Given the description of an element on the screen output the (x, y) to click on. 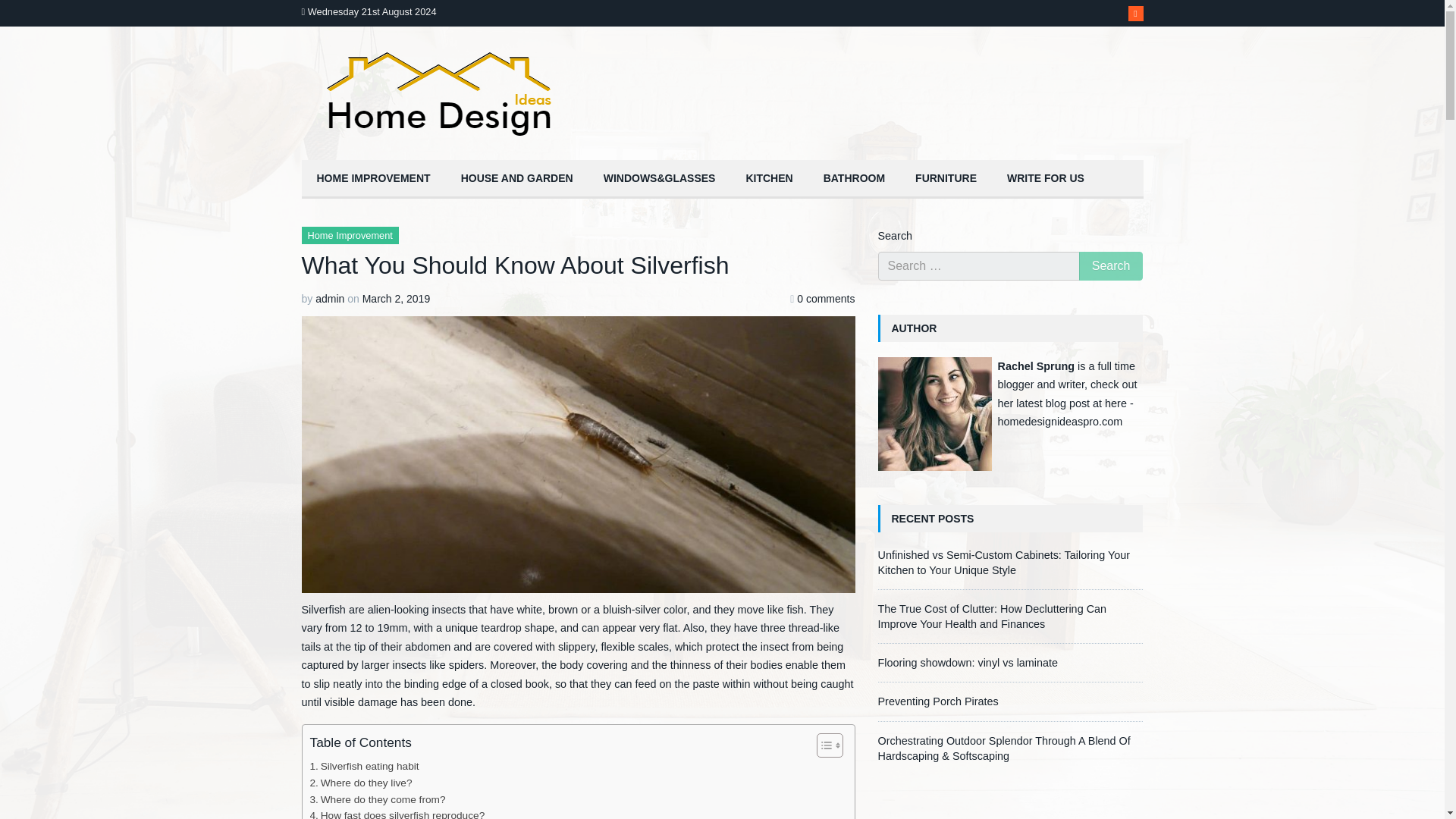
Write for Us (1045, 179)
Search (1110, 265)
Silverfish eating habit (363, 766)
Flooring showdown: vinyl vs laminate (967, 662)
Preventing Porch Pirates (937, 701)
March 2, 2019 (396, 298)
Search (1110, 265)
admin (329, 298)
KITCHEN (769, 179)
Where do they come from? (376, 799)
